Given the description of an element on the screen output the (x, y) to click on. 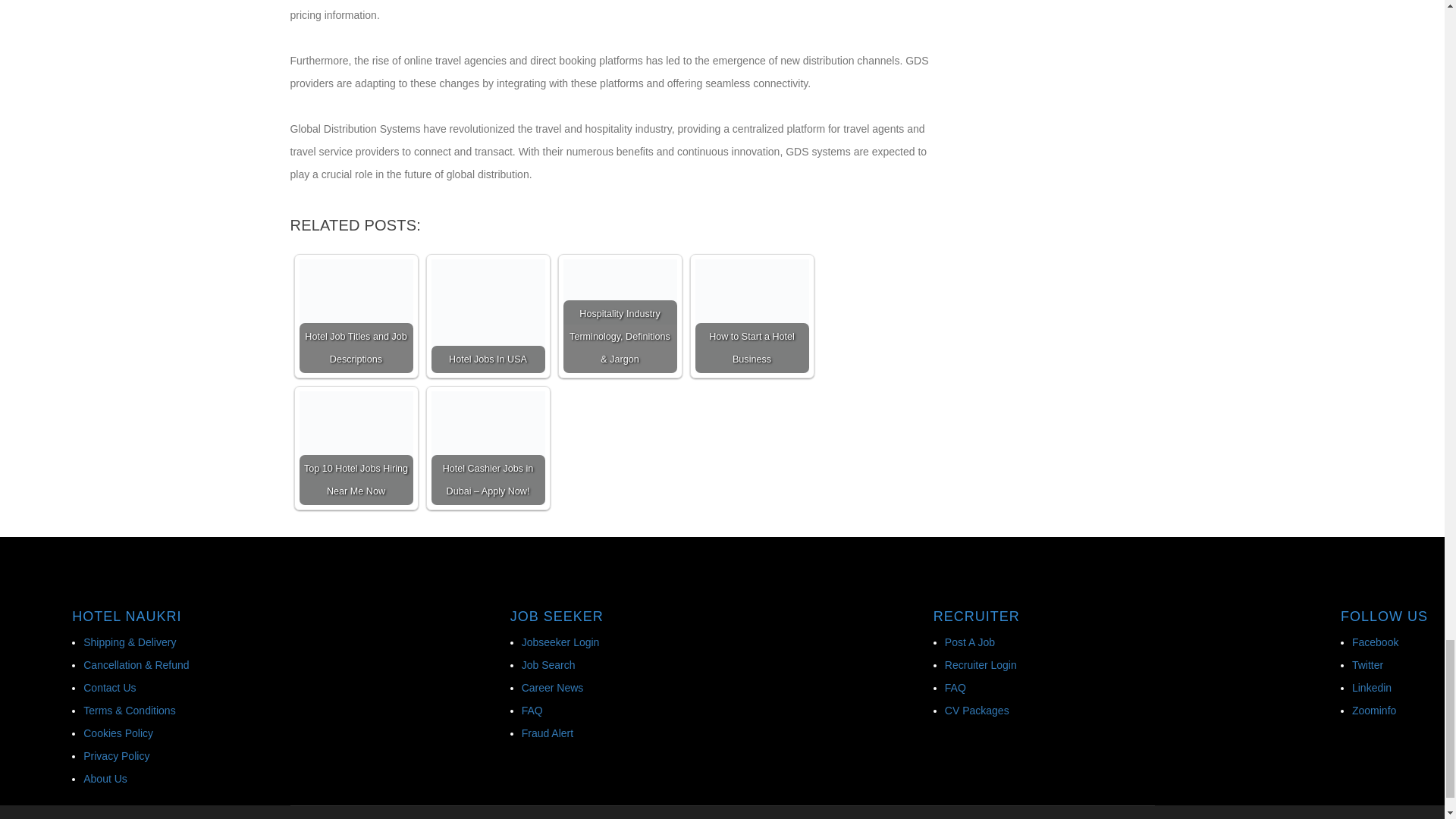
Cookies Policy (117, 733)
Hotel Job Titles and Job Descriptions (355, 291)
How to Start a Hotel Business (751, 316)
Top 10 Hotel Jobs Hiring Near Me Now (355, 448)
Contact Us (108, 687)
Hotel Jobs In USA (487, 316)
Top 10 Hotel Jobs Hiring Near Me Now (355, 448)
How to Start a Hotel Business (751, 316)
Hotel Jobs In USA (487, 316)
Hotel Job Titles and Job Descriptions (355, 316)
